Given the description of an element on the screen output the (x, y) to click on. 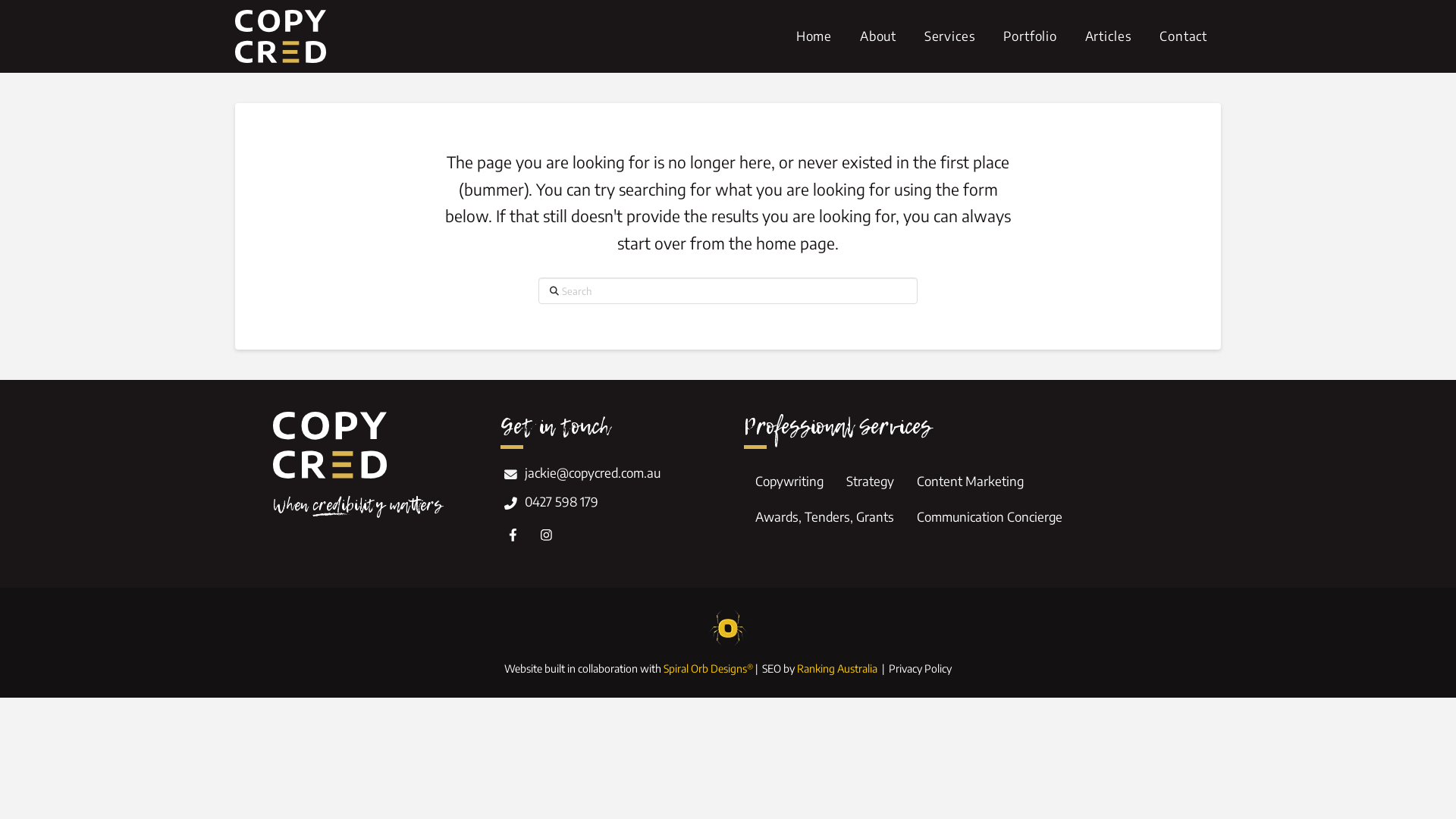
Copywriting Element type: text (788, 481)
0427 598 179 Element type: text (606, 503)
Ranking Australia Element type: text (837, 668)
jackie@copycred.com.au Element type: text (606, 475)
Content Marketing Element type: text (970, 481)
Awards, Tenders, Grants Element type: text (824, 517)
Articles Element type: text (1107, 36)
Contact Element type: text (1182, 36)
About Element type: text (877, 36)
Portfolio Element type: text (1029, 36)
Strategy Element type: text (869, 481)
Services Element type: text (949, 36)
Communication Concierge Element type: text (989, 517)
Home Element type: text (813, 36)
